Given the description of an element on the screen output the (x, y) to click on. 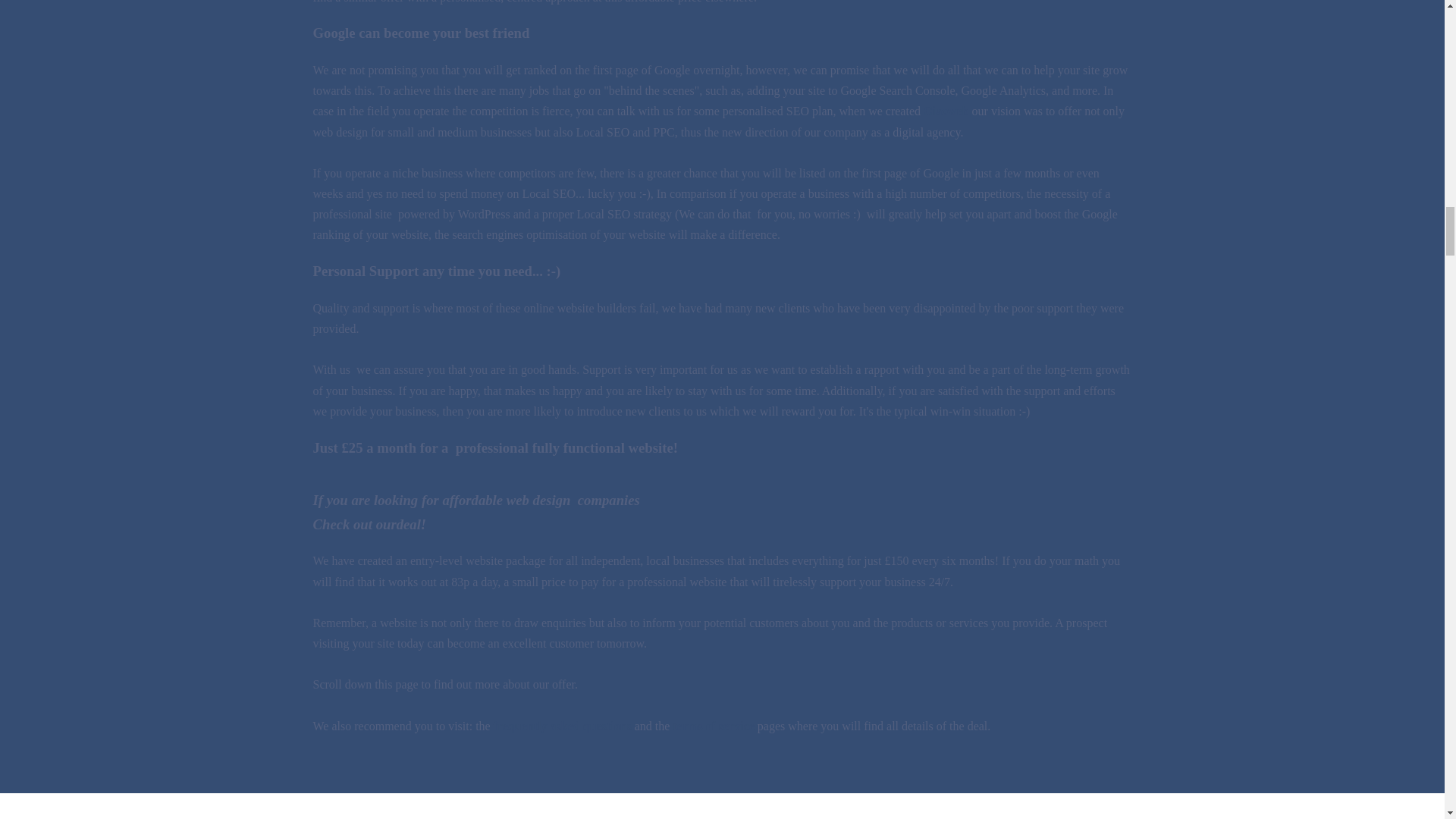
frequently asked questions (562, 725)
Ciaoweb (946, 110)
terms of service (713, 725)
